Given the description of an element on the screen output the (x, y) to click on. 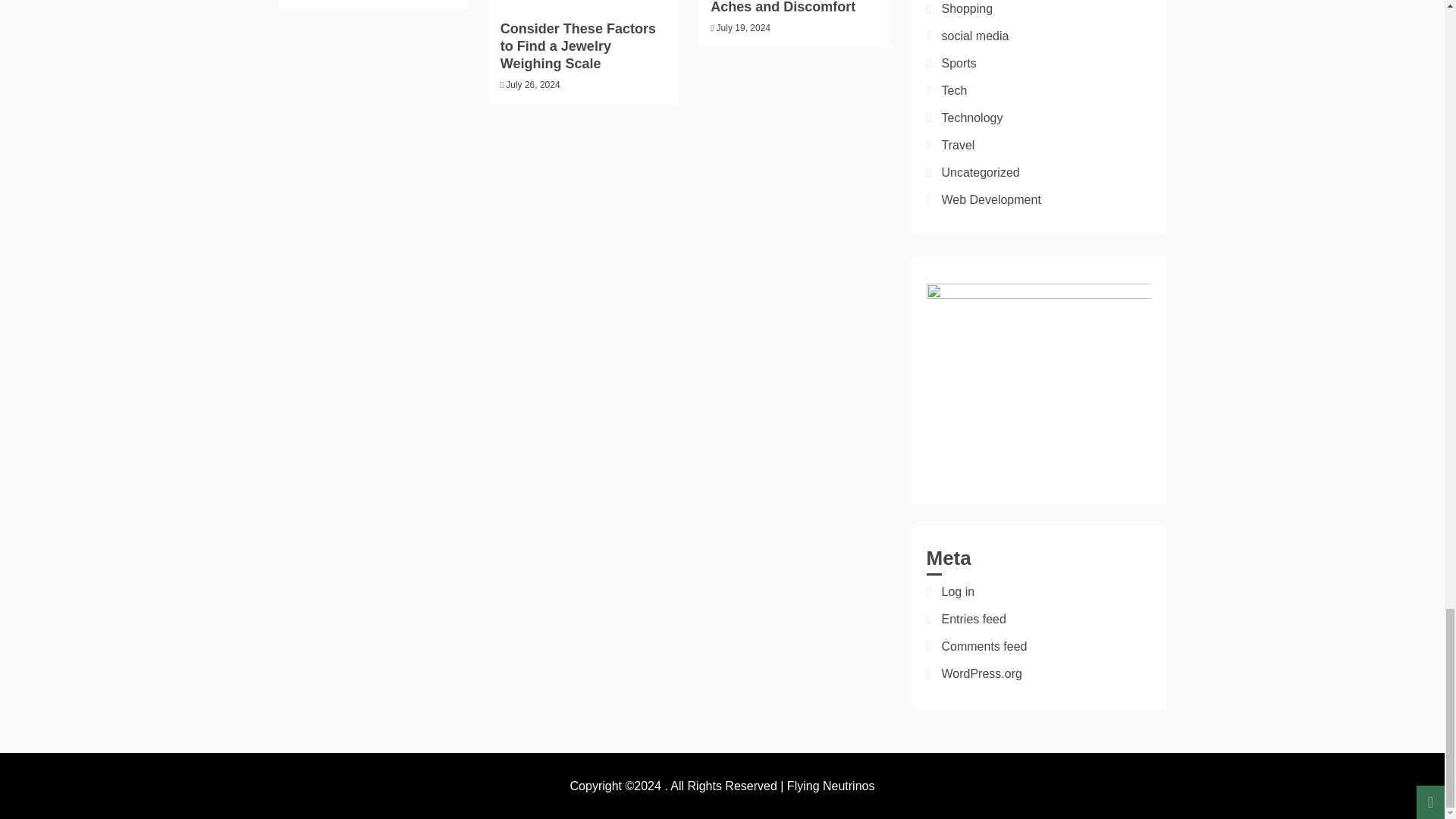
Consider These Factors to Find a Jewelry Weighing Scale (578, 46)
July 19, 2024 (743, 27)
July 26, 2024 (532, 84)
